Given the description of an element on the screen output the (x, y) to click on. 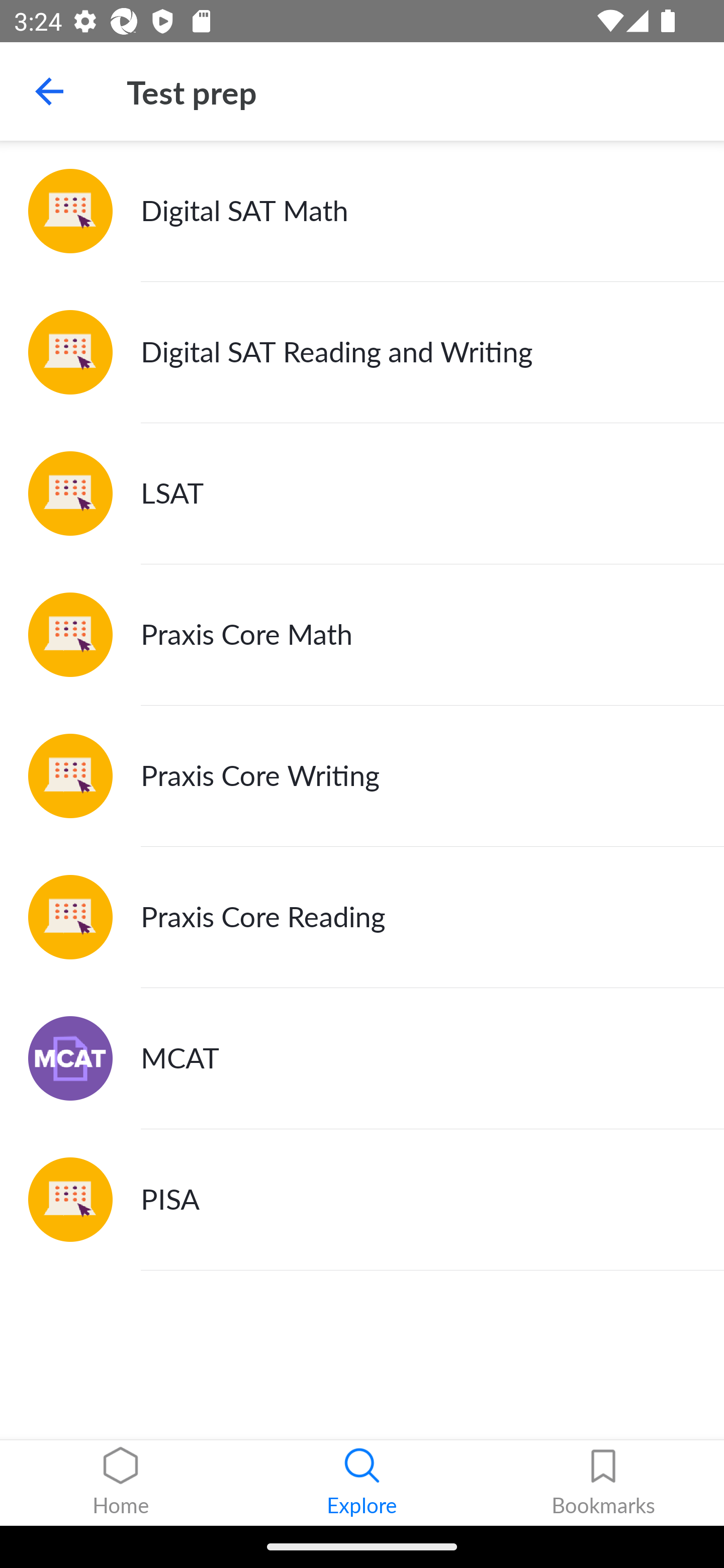
Navigate up (49, 91)
Digital SAT Math (362, 211)
Digital SAT Reading and Writing  (362, 352)
LSAT (362, 493)
Praxis Core Math (362, 634)
Praxis Core Writing (362, 775)
Praxis Core Reading (362, 916)
MCAT (362, 1057)
PISA (362, 1199)
Home (120, 1482)
Explore (361, 1482)
Bookmarks (603, 1482)
